Given the description of an element on the screen output the (x, y) to click on. 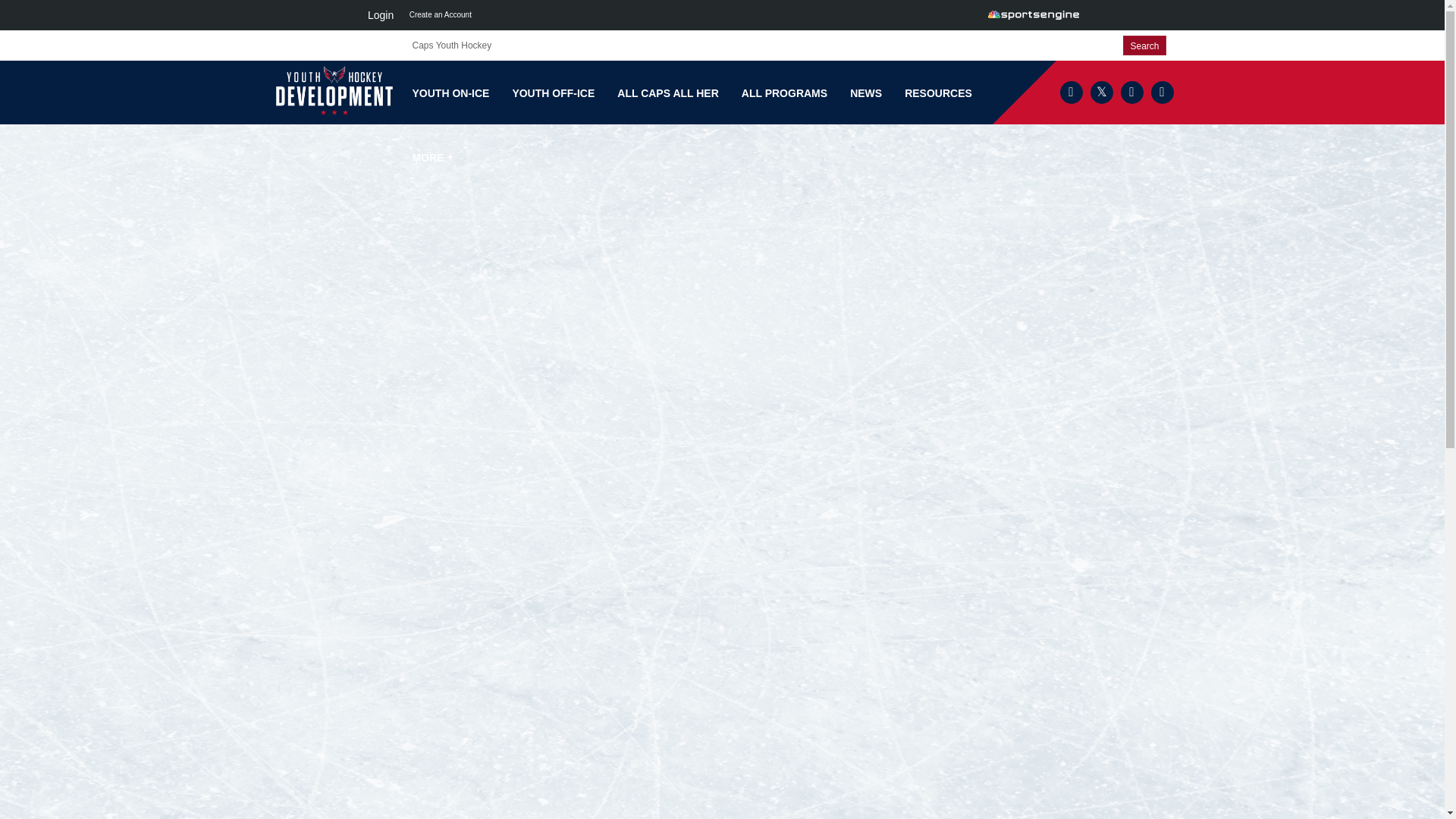
Create an Account (440, 15)
MORE (432, 157)
click to go to 'ALL CAPS ALL HER' (667, 93)
E-Mail (1131, 92)
ALL PROGRAMS (784, 93)
Login (379, 15)
YOUTH ON-ICE (450, 93)
Instagram (1162, 92)
click to go to 'All Programs' (784, 93)
SportsEngine (1032, 15)
